Given the description of an element on the screen output the (x, y) to click on. 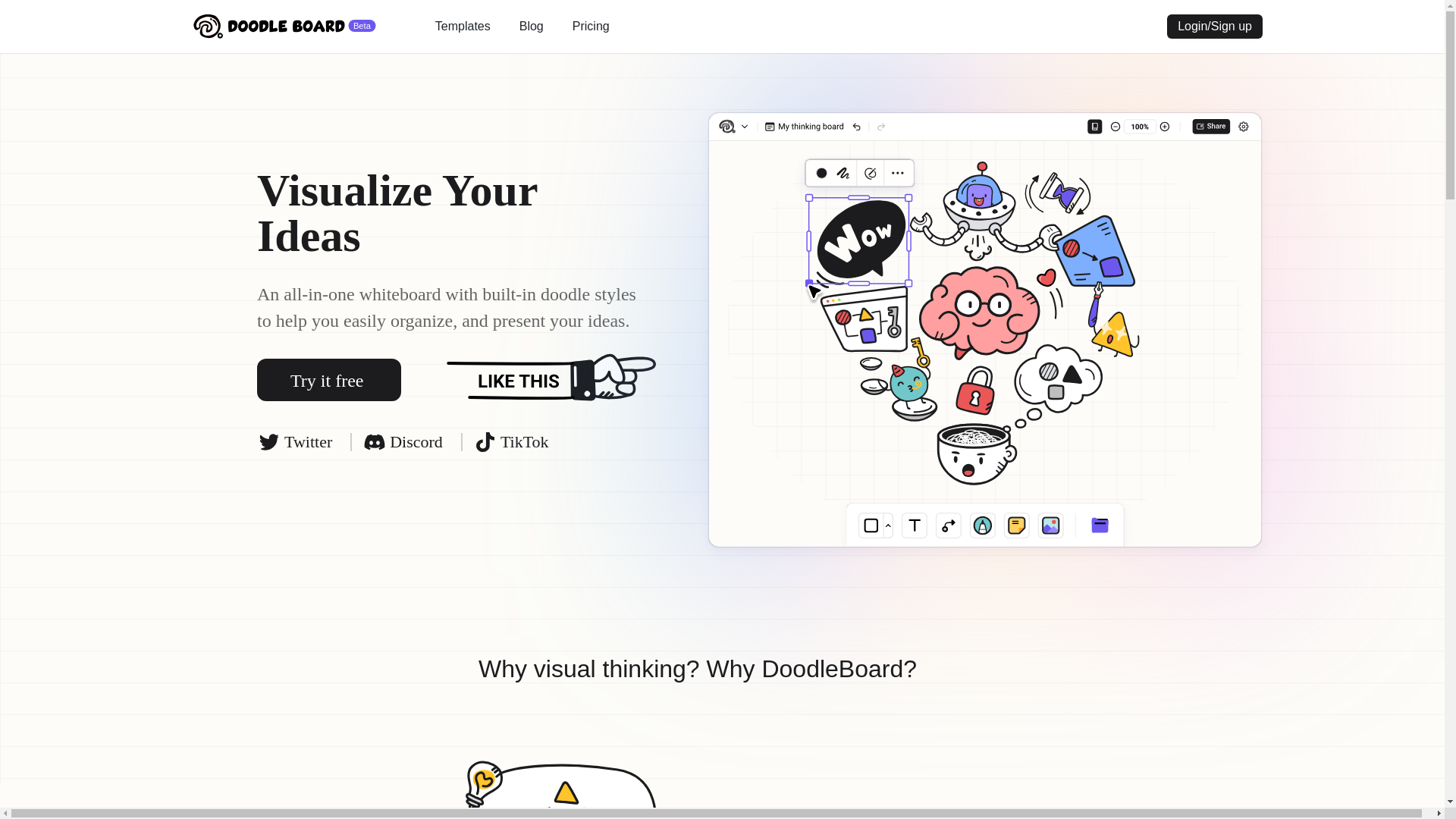
Templates (462, 26)
Blog (531, 26)
Pricing (591, 26)
